Given the description of an element on the screen output the (x, y) to click on. 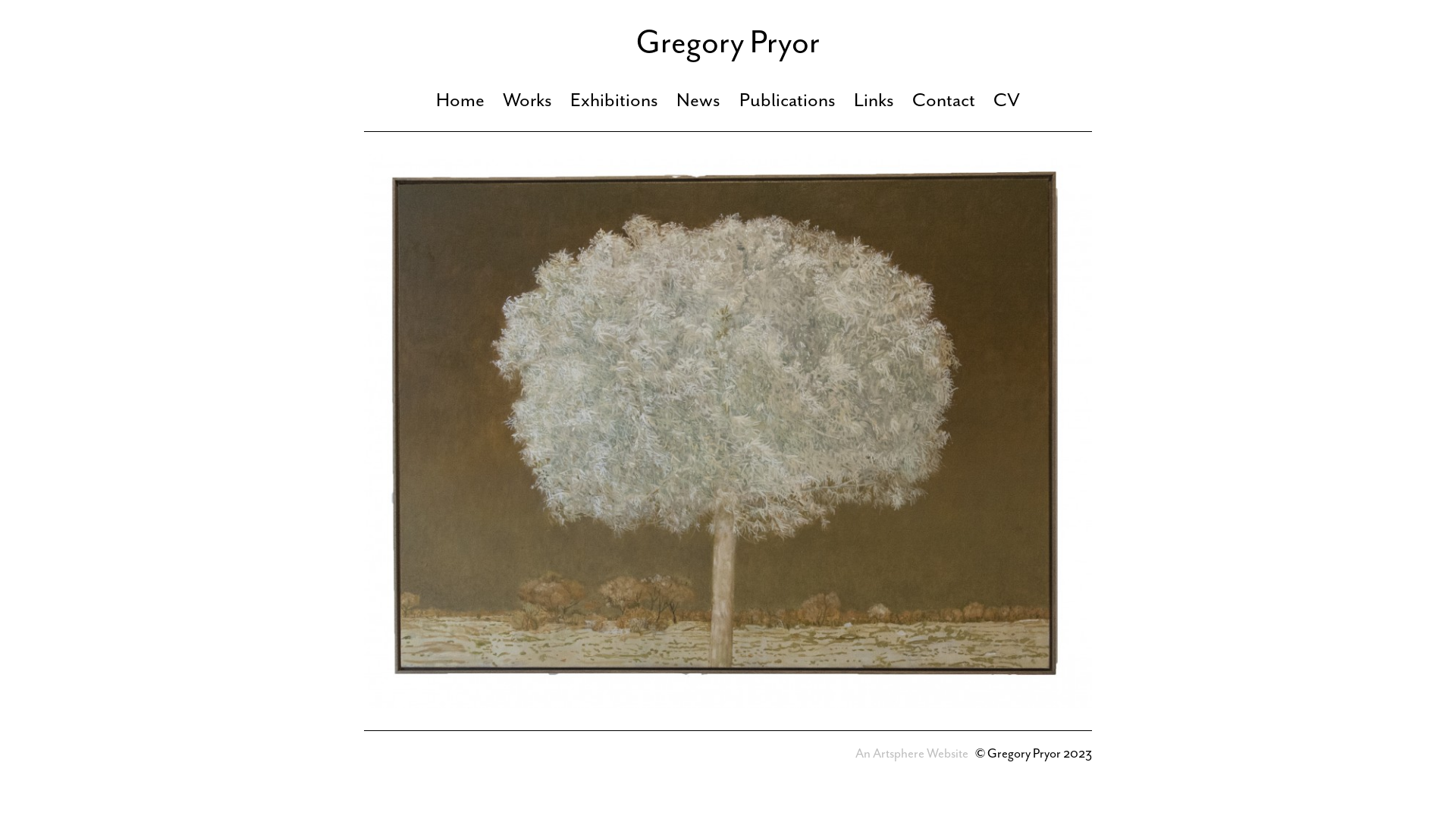
Links Element type: text (873, 99)
Flowering (study) by Gregory Pryor Element type: hover (728, 431)
Works Element type: text (527, 99)
An Artsphere Website Element type: text (911, 753)
News Element type: text (698, 99)
CV Element type: text (1006, 99)
Exhibitions Element type: text (614, 99)
Home Element type: text (460, 99)
Contact Element type: text (943, 99)
Publications Element type: text (787, 99)
